Given the description of an element on the screen output the (x, y) to click on. 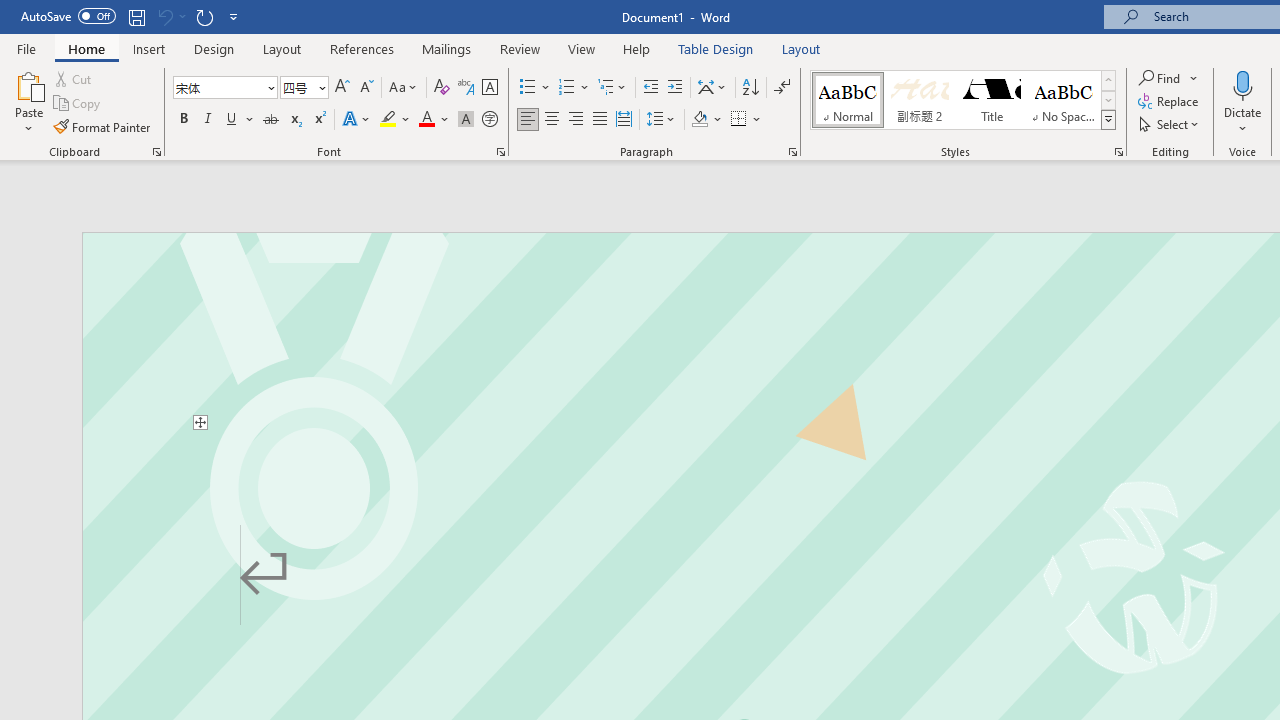
Line and Paragraph Spacing (661, 119)
Asian Layout (712, 87)
Styles... (1118, 151)
